Given the description of an element on the screen output the (x, y) to click on. 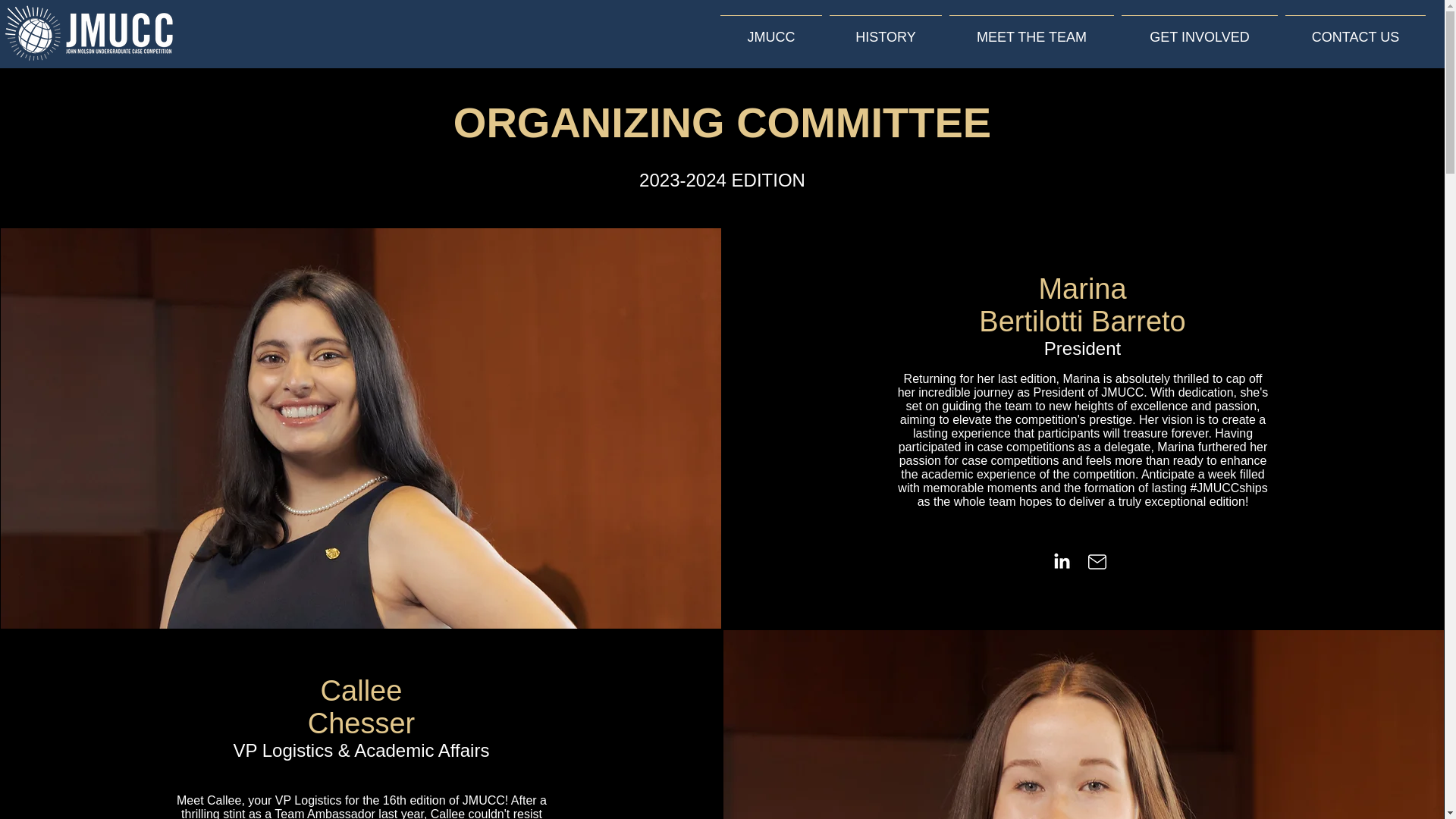
CONTACT US (1355, 30)
JMUCC (770, 30)
HISTORY (884, 30)
